Given the description of an element on the screen output the (x, y) to click on. 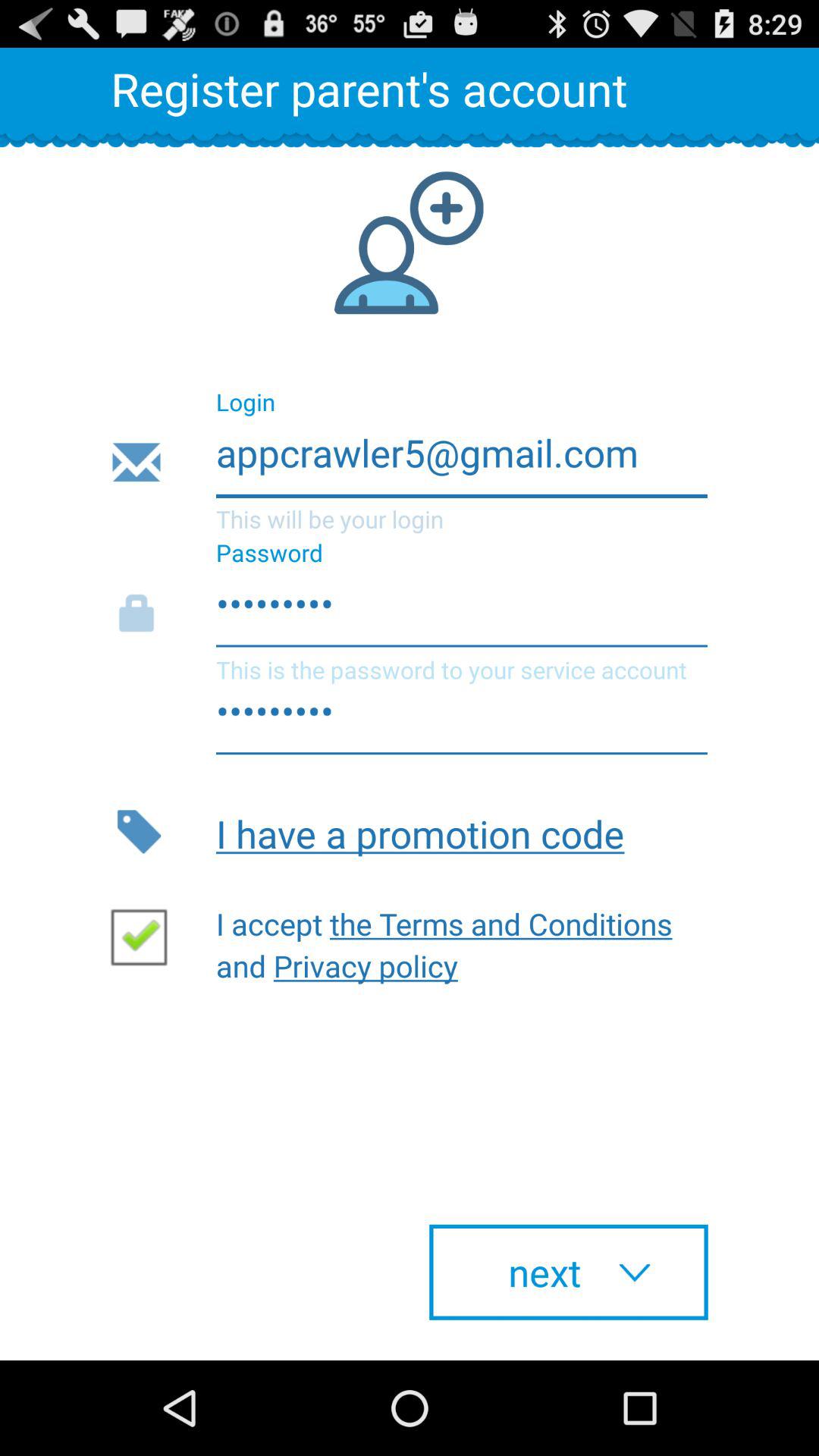
flip to i accept the item (451, 940)
